Given the description of an element on the screen output the (x, y) to click on. 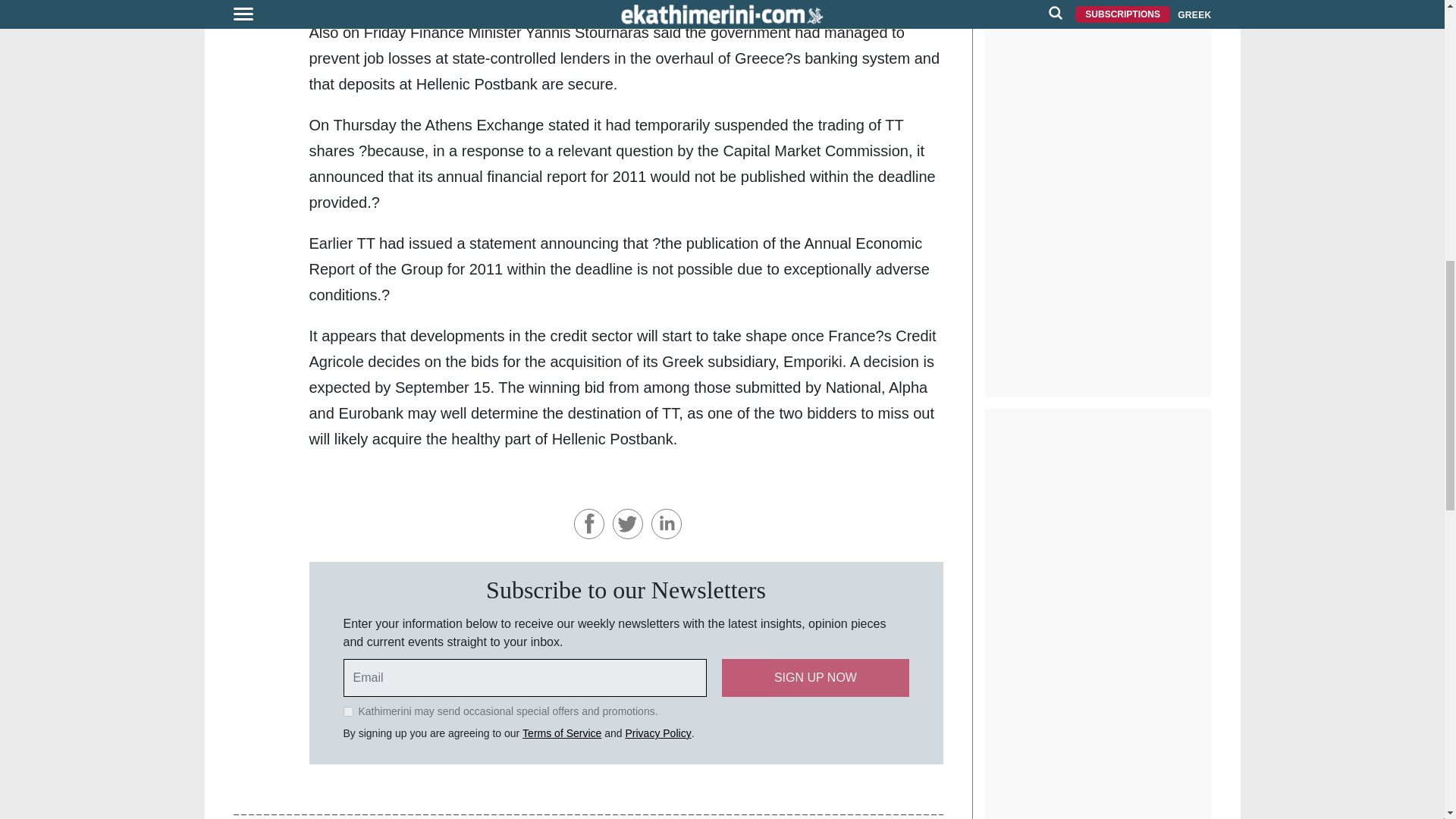
on (347, 711)
